Given the description of an element on the screen output the (x, y) to click on. 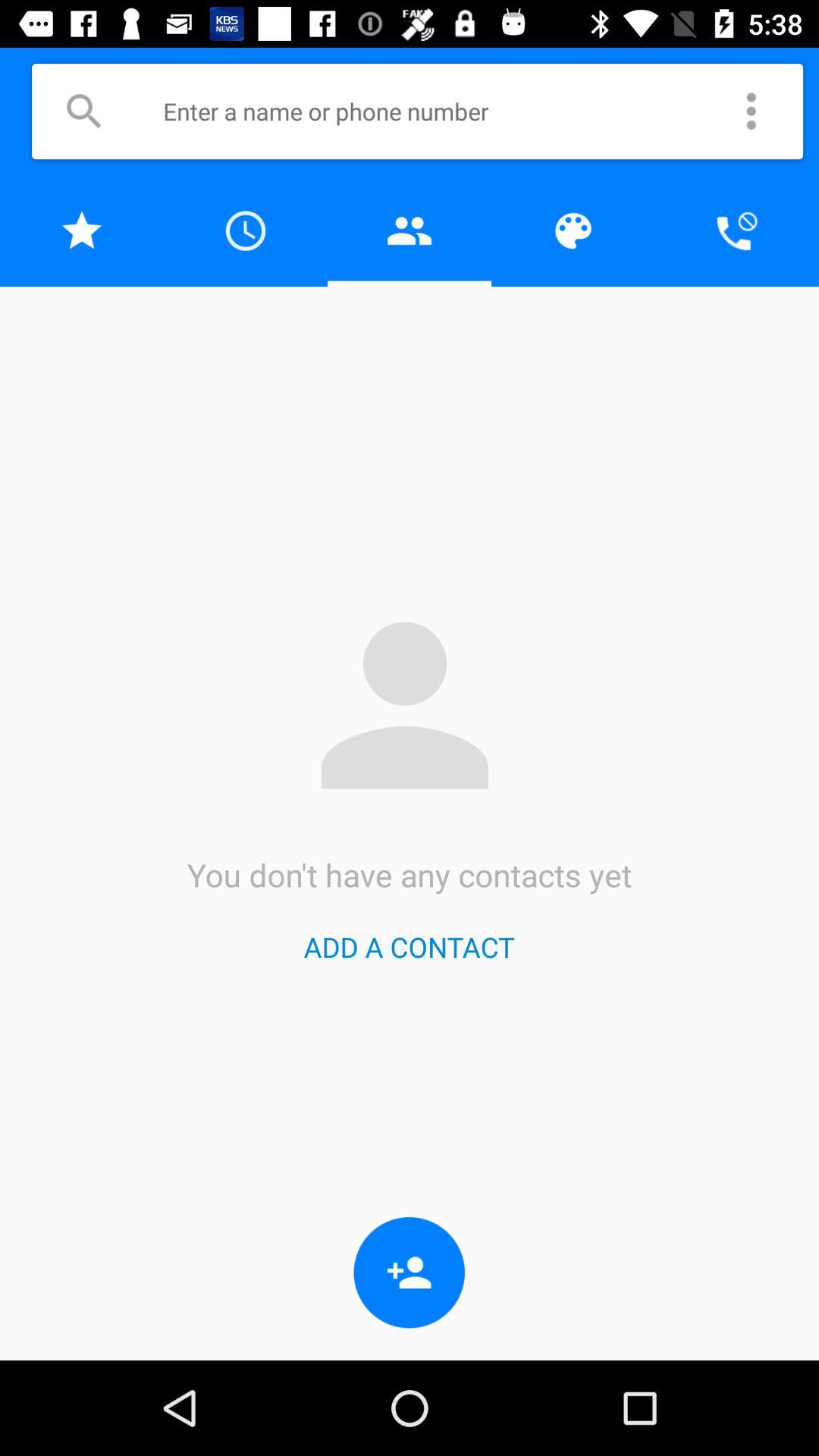
add to favorites (81, 230)
